Given the description of an element on the screen output the (x, y) to click on. 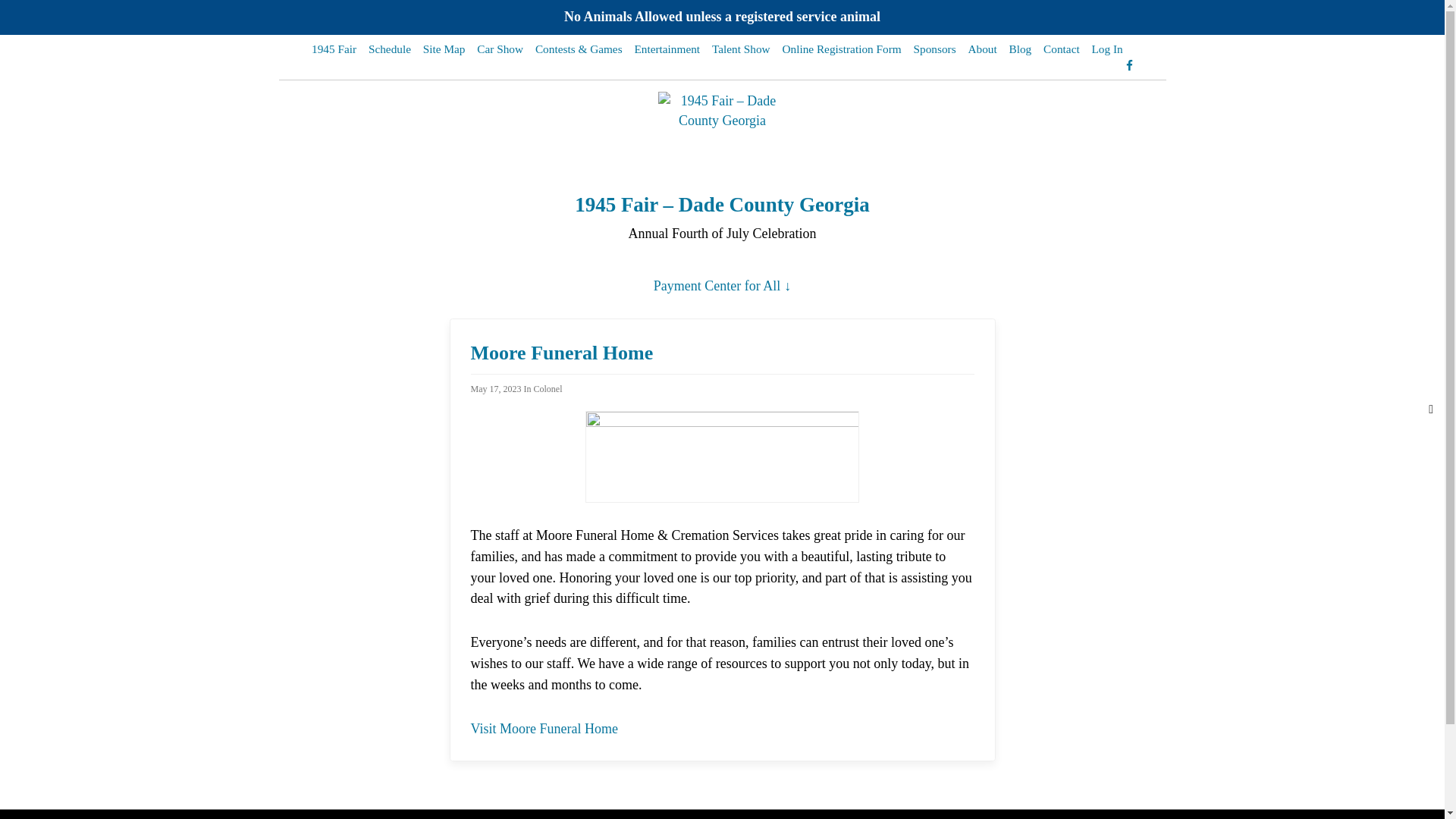
1945 Fair Element type: text (333, 48)
Online Registration Form Element type: text (840, 48)
About Element type: text (981, 48)
Talent Show Element type: text (741, 48)
Site Map Element type: text (444, 48)
Visit Moore Funeral Home Element type: text (543, 728)
Moore Funeral Home Element type: text (561, 353)
Contests & Games Element type: text (578, 48)
Schedule Element type: text (389, 48)
Colonel Element type: text (547, 388)
Entertainment Element type: text (666, 48)
Contact Element type: text (1061, 48)
May 17, 2023 Element type: text (495, 388)
Blog Element type: text (1020, 48)
Log In Element type: text (1107, 48)
Sponsors Element type: text (934, 48)
Car Show Element type: text (499, 48)
Payment Center for All Element type: text (721, 285)
